Given the description of an element on the screen output the (x, y) to click on. 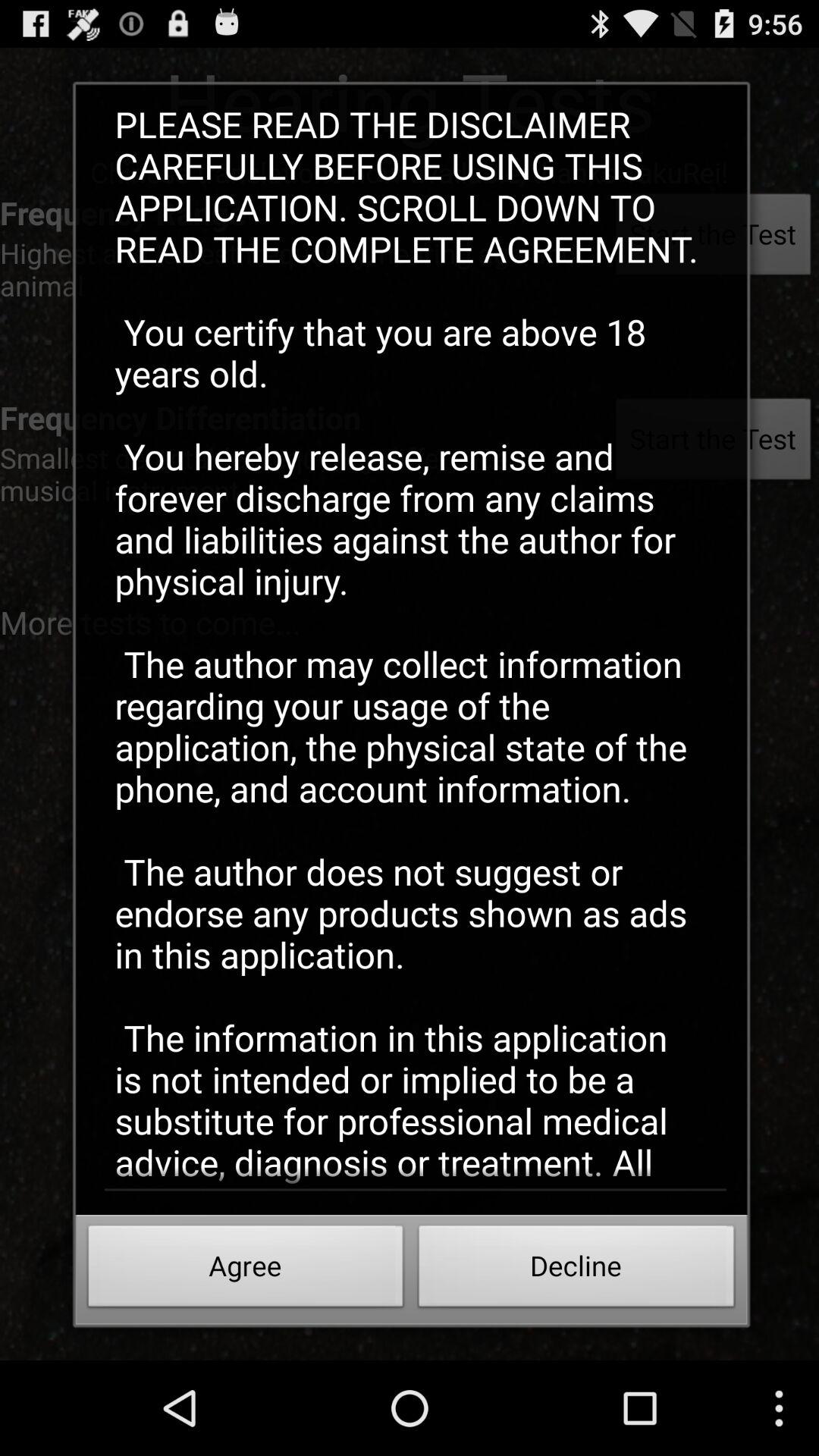
turn on item below the please read the item (245, 1270)
